Given the description of an element on the screen output the (x, y) to click on. 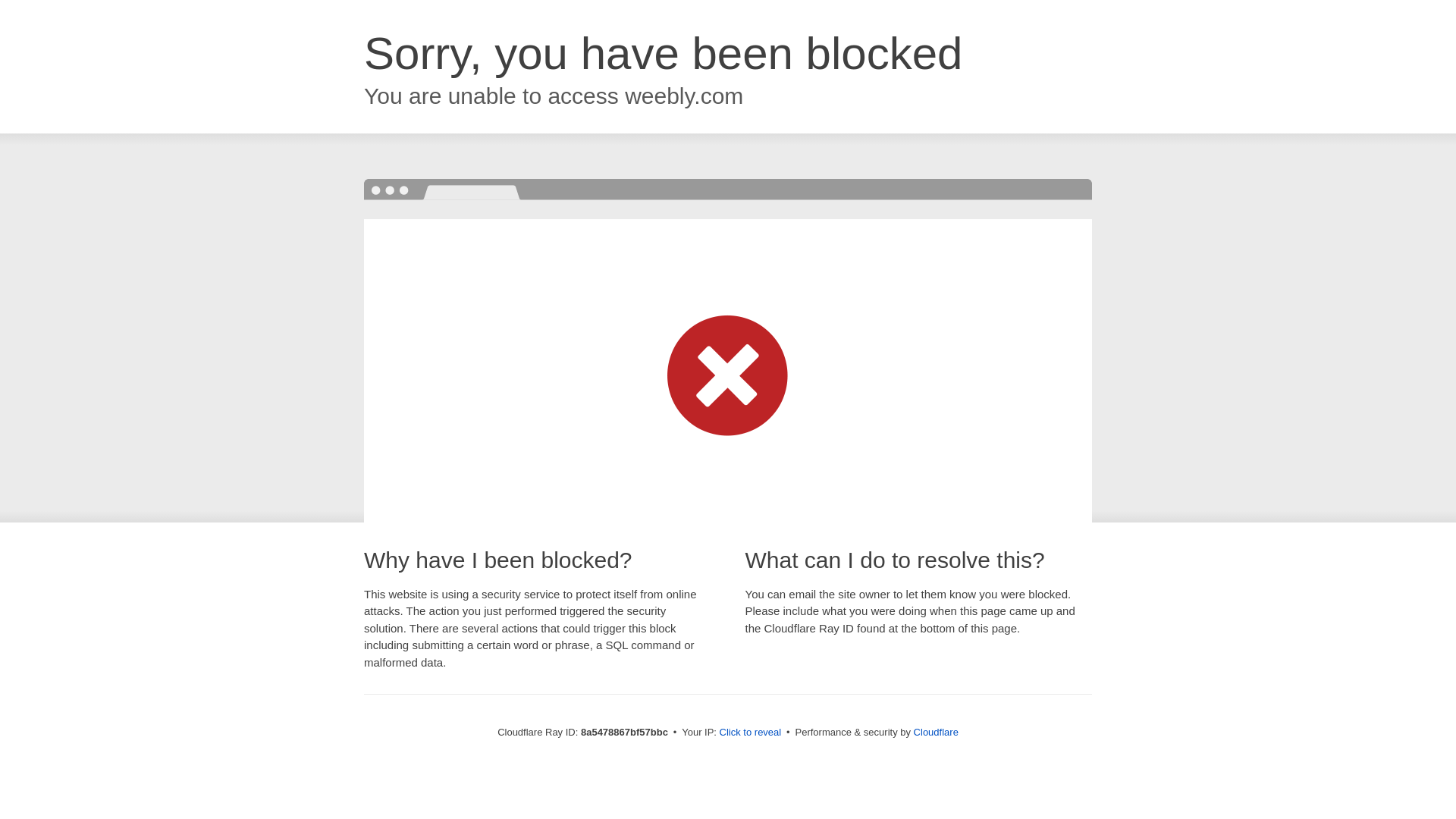
Cloudflare (936, 731)
Click to reveal (750, 732)
